Given the description of an element on the screen output the (x, y) to click on. 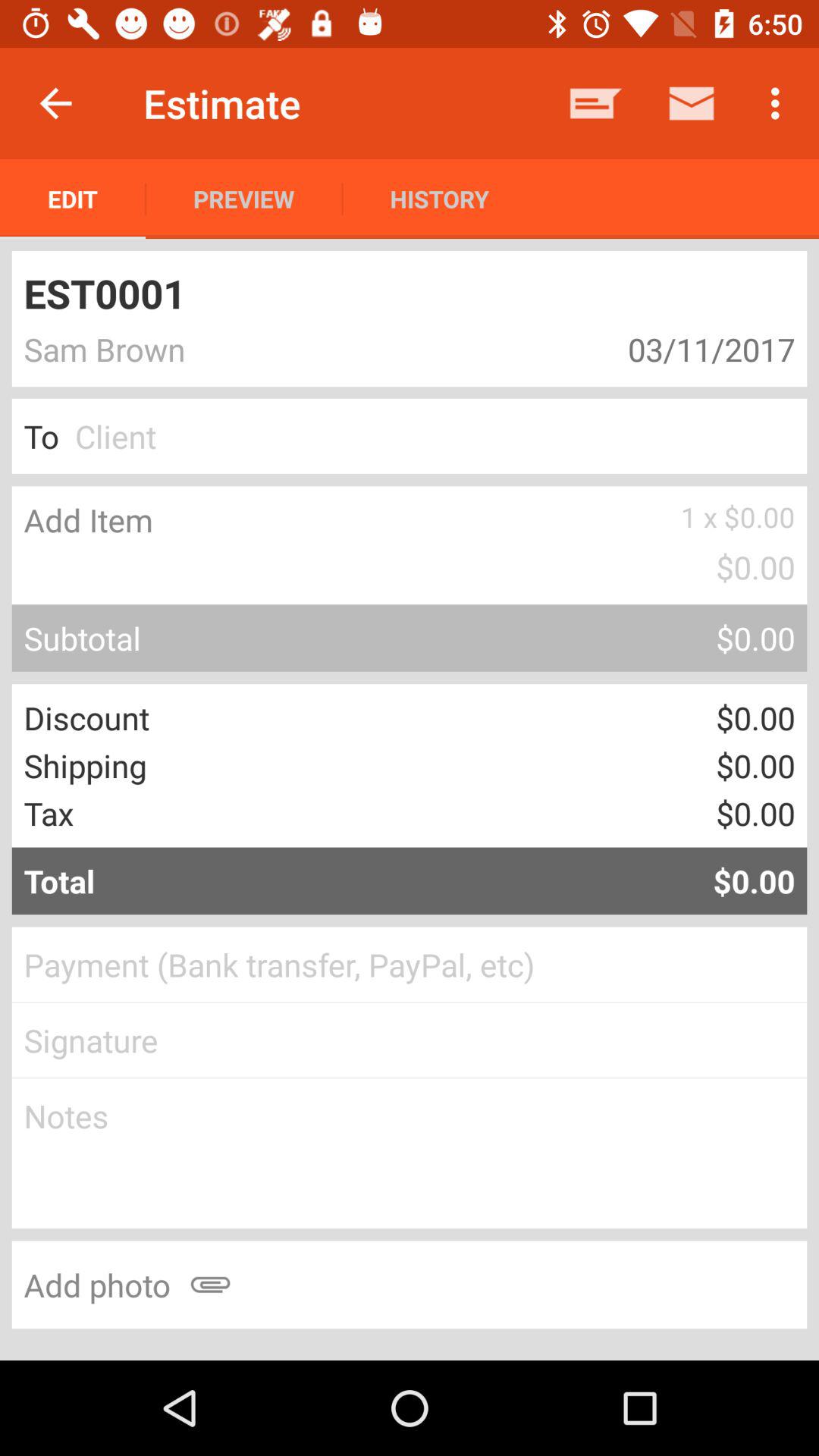
press the icon to the right of edit app (243, 198)
